Given the description of an element on the screen output the (x, y) to click on. 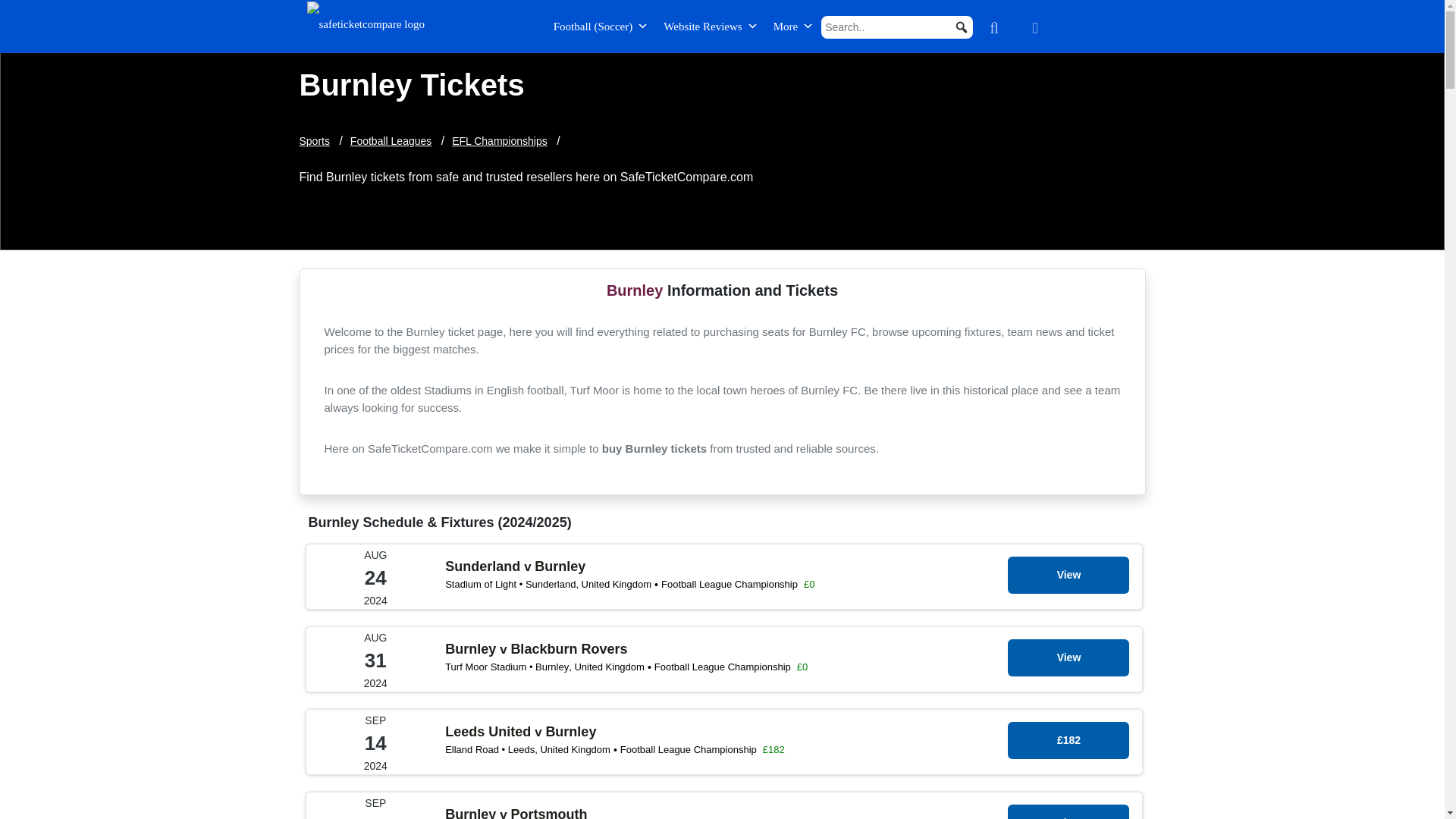
Leeds United vs Burnley 2024-09-14 (722, 768)
Burnley vs Blackburn Rovers 2024-08-31 (722, 686)
Sunderland vs Burnley 2024-08-24 (722, 603)
Burnley vs Blackburn Rovers 2024-08-31 (1068, 656)
Leeds United vs Burnley 2024-09-14 (1068, 740)
Sunderland vs Burnley 2024-08-24 (1068, 574)
Burnley vs Portsmouth 2024-09-21 (1068, 811)
